Given the description of an element on the screen output the (x, y) to click on. 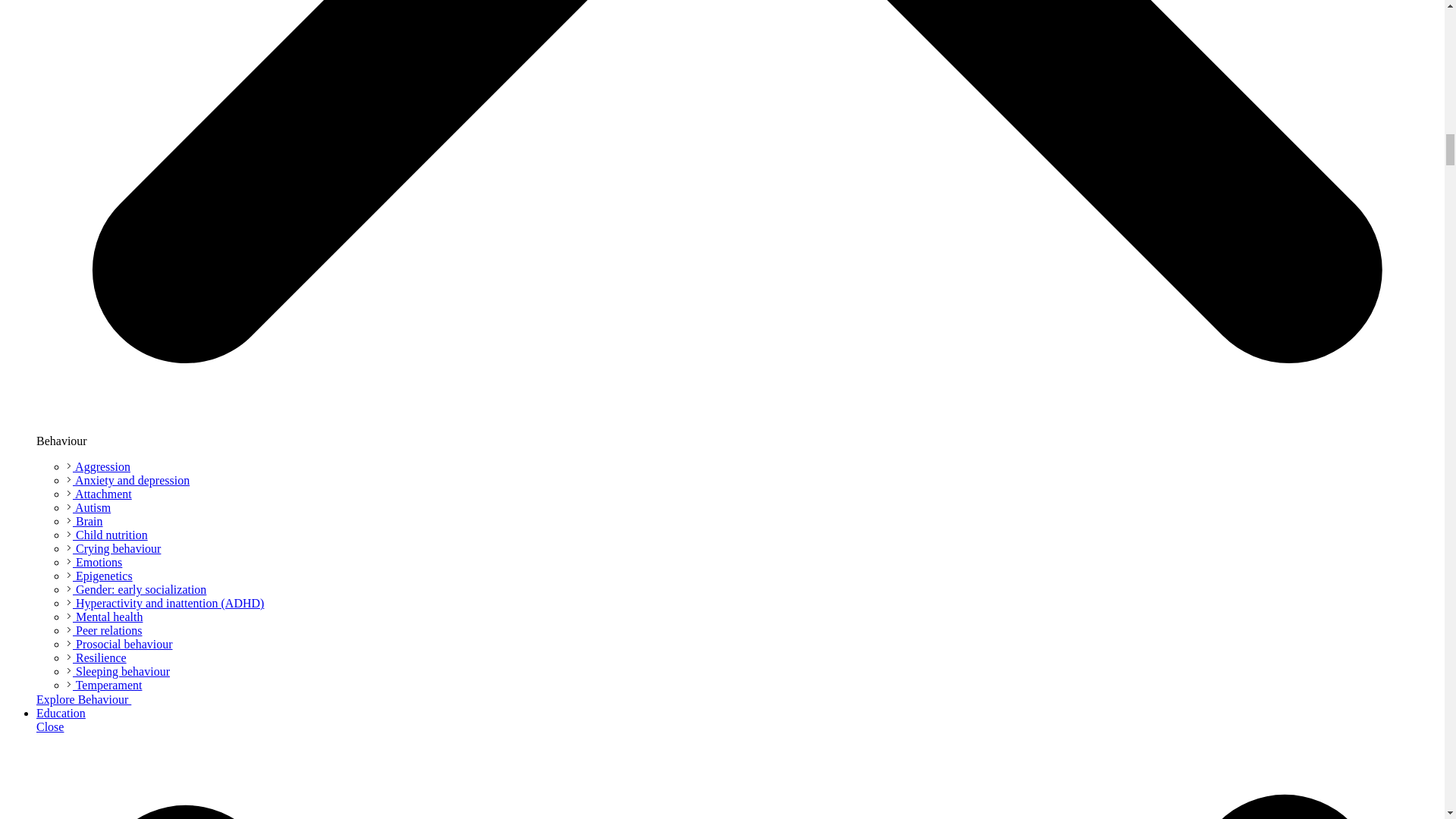
Aggression (98, 466)
Mental health (104, 616)
Attachment (99, 493)
Peer relations (104, 630)
Child nutrition (107, 534)
Brain (84, 521)
Temperament (103, 684)
Emotions (94, 562)
Gender: early socialization (136, 589)
Explore Behaviour (91, 698)
Autism (88, 507)
Epigenetics (99, 575)
Anxiety and depression (127, 480)
Education (60, 712)
Crying behaviour (113, 548)
